Given the description of an element on the screen output the (x, y) to click on. 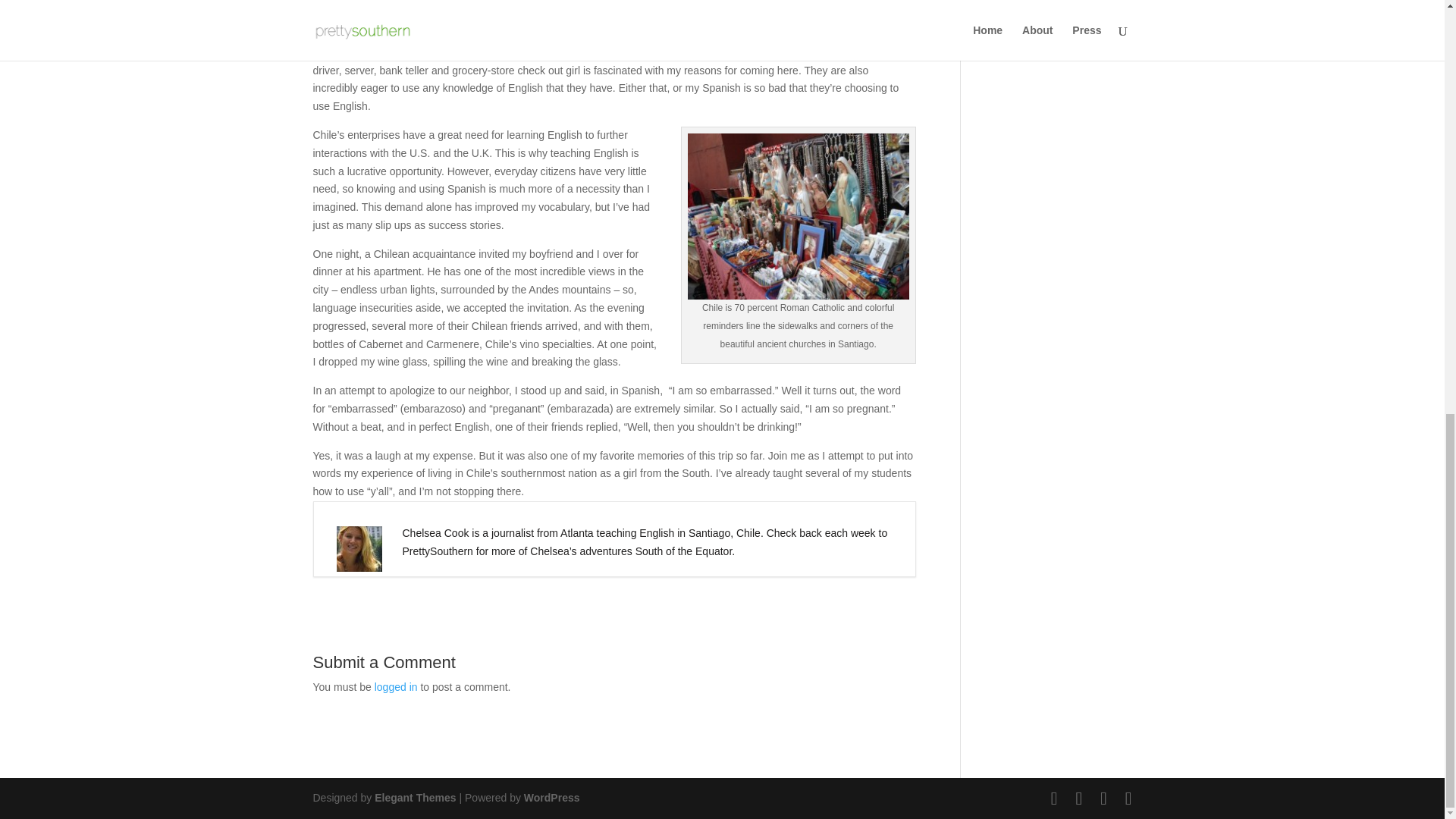
WordPress (551, 797)
Photo2 (797, 216)
Premium WordPress Themes (414, 797)
Elegant Themes (414, 797)
logged in (395, 686)
